Given the description of an element on the screen output the (x, y) to click on. 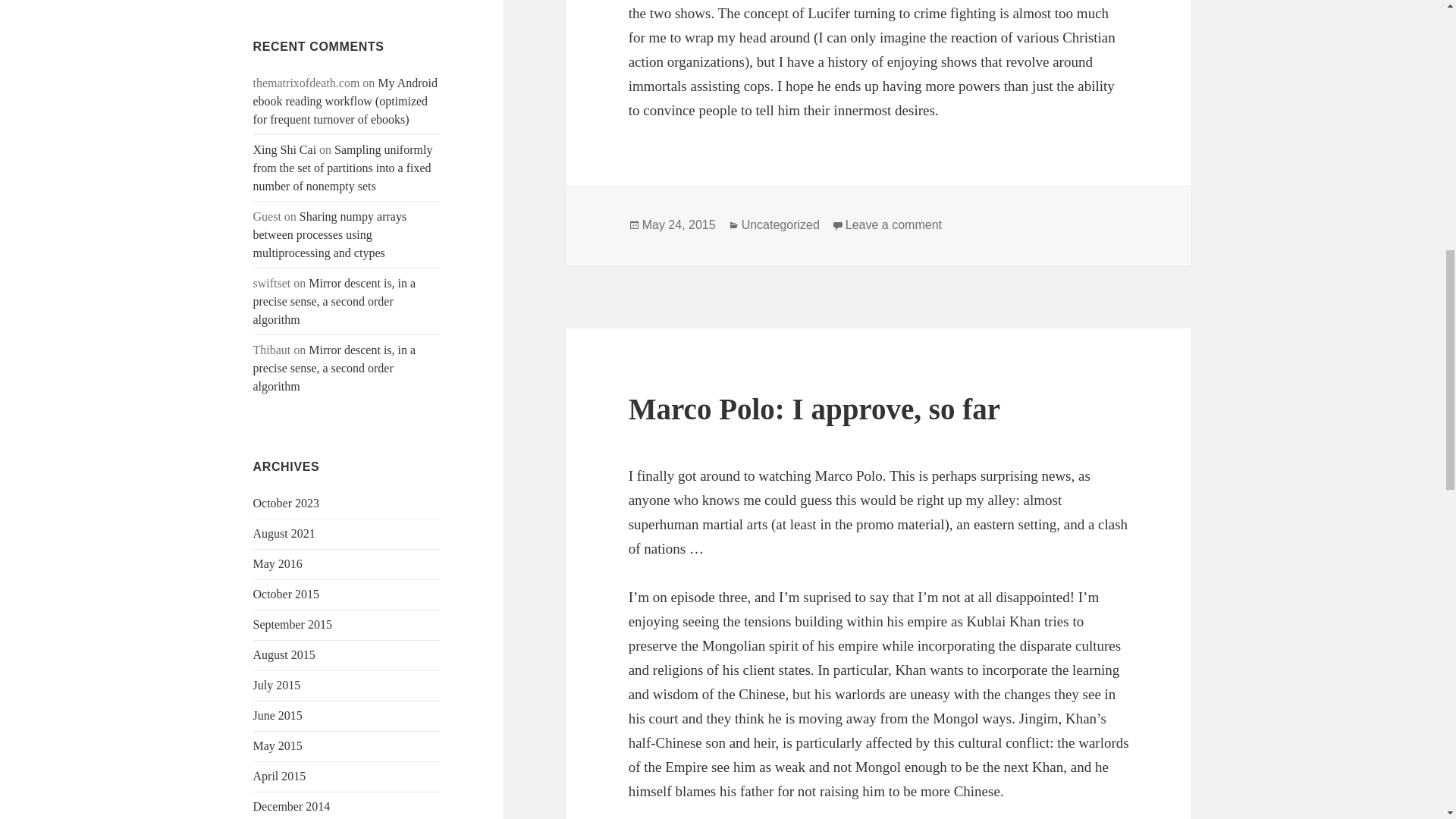
December 2014 (291, 806)
June 2015 (277, 715)
May 2015 (277, 745)
April 2015 (279, 775)
May 2016 (277, 563)
August 2021 (284, 533)
September 2015 (292, 624)
